Given the description of an element on the screen output the (x, y) to click on. 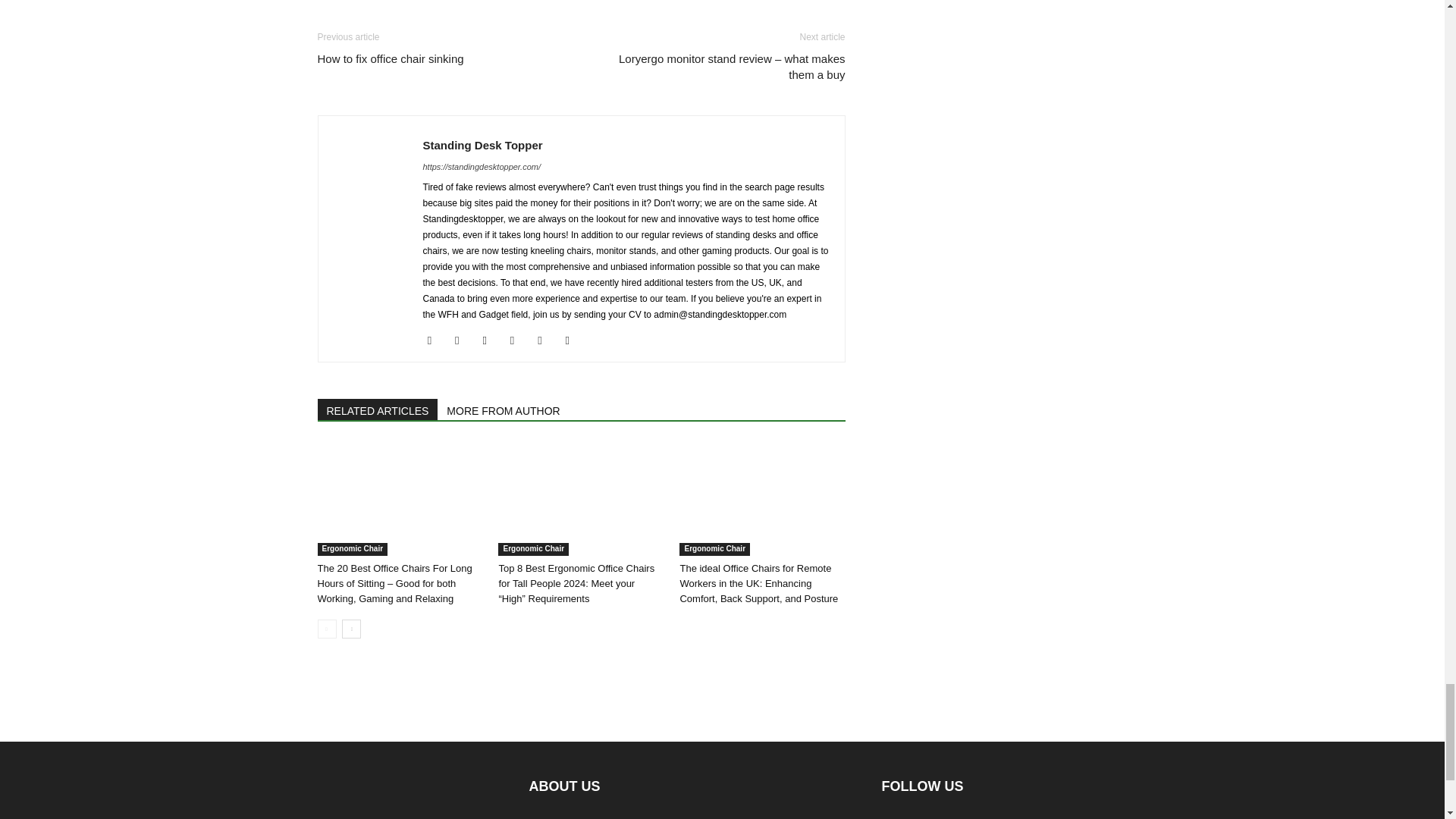
Mail (489, 340)
Instagram (462, 340)
Pinterest (518, 340)
Reddit (544, 340)
Facebook (435, 340)
